Given the description of an element on the screen output the (x, y) to click on. 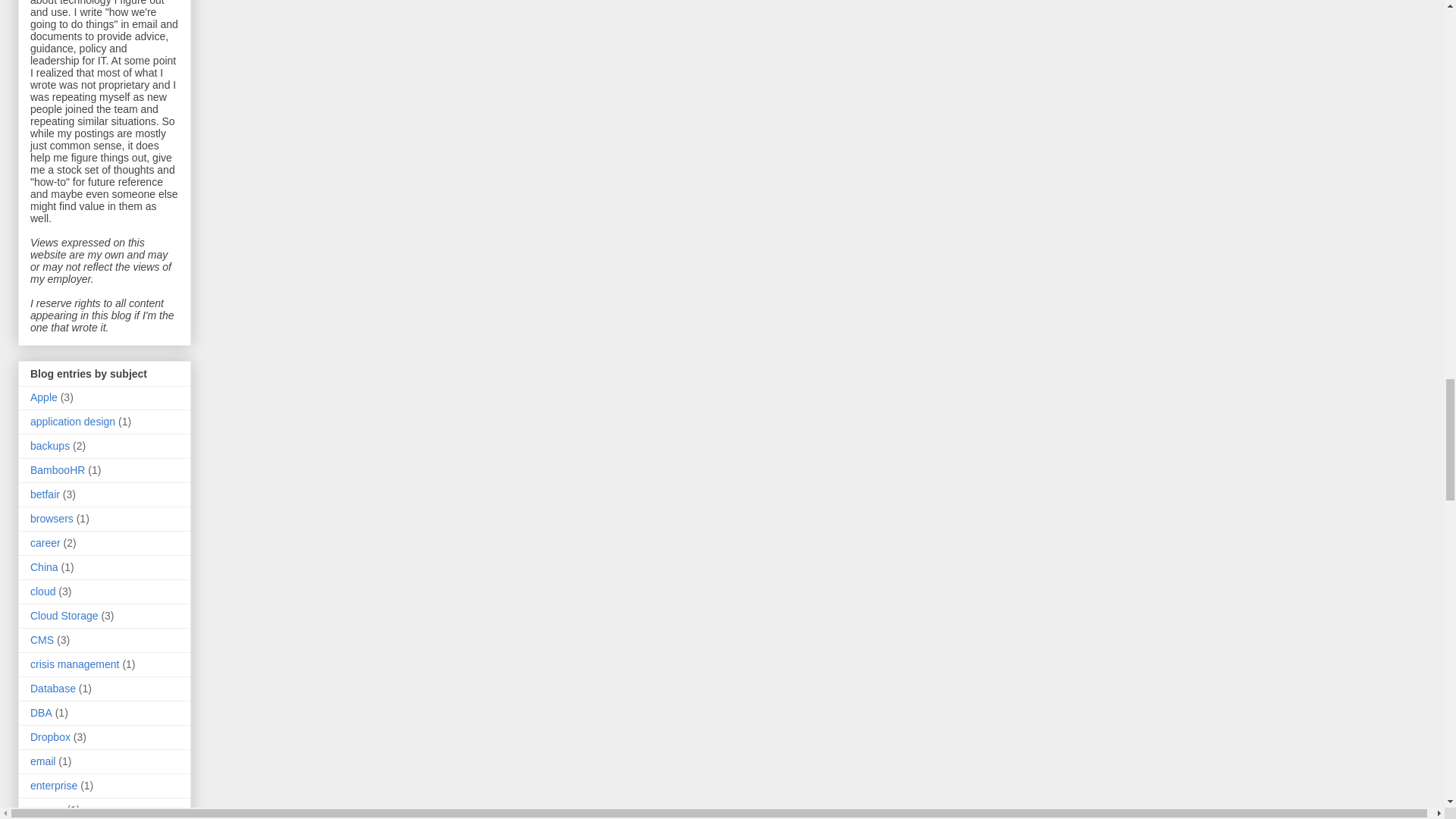
career (45, 542)
BambooHR (57, 469)
China (44, 567)
browsers (52, 518)
Apple (44, 397)
betfair (44, 494)
application design (72, 421)
backups (49, 445)
